Given the description of an element on the screen output the (x, y) to click on. 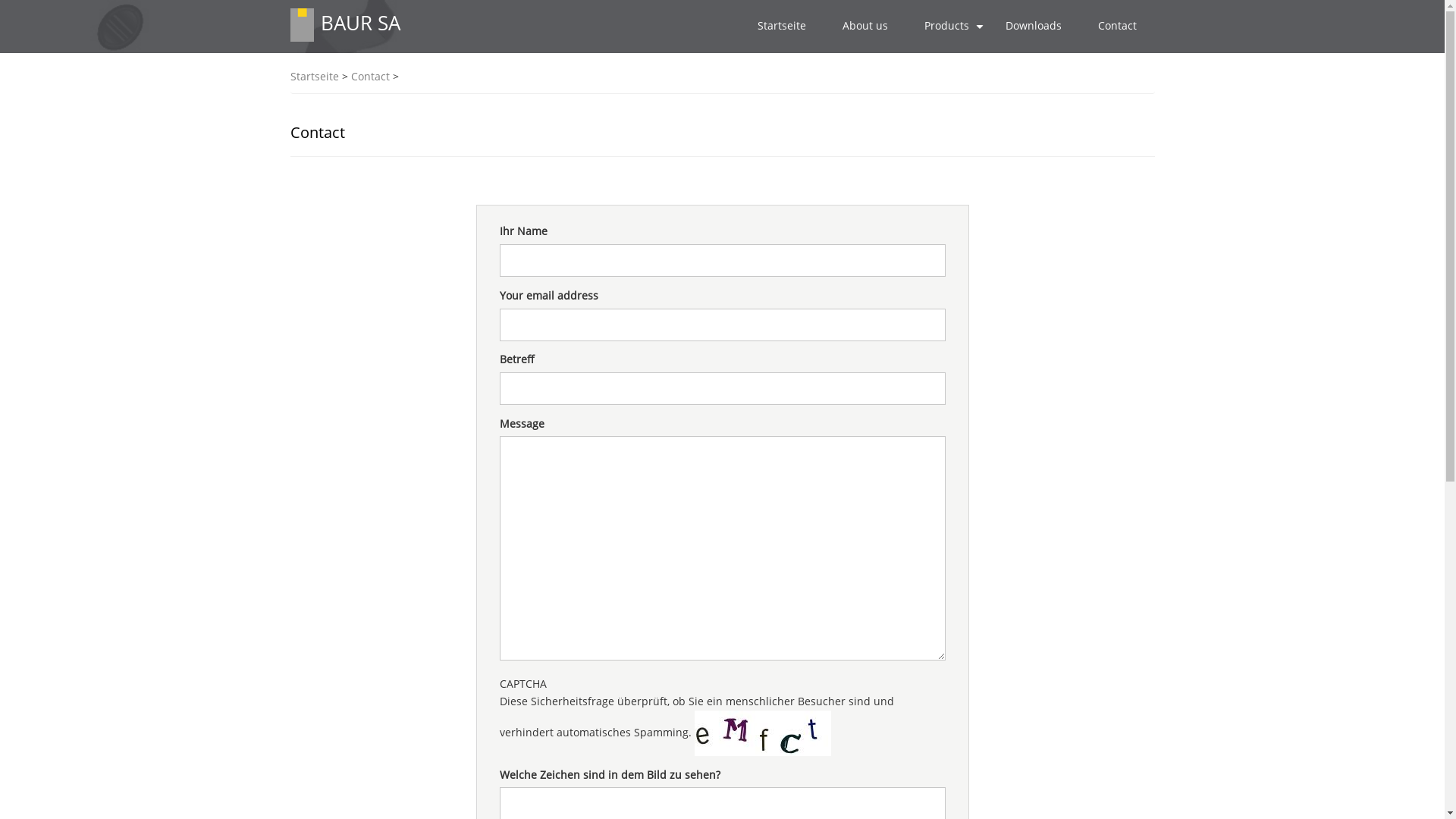
About us Element type: text (864, 25)
+
Products Element type: text (945, 25)
Contact Element type: text (1116, 25)
Contact Element type: text (369, 76)
Direkt zum Inhalt Element type: text (0, 0)
Startseite Element type: text (780, 25)
Startseite Element type: hover (301, 24)
BAUR SA Element type: text (359, 22)
Startseite Element type: text (313, 76)
Bild-CAPTCHA Element type: hover (762, 733)
Downloads Element type: text (1033, 25)
